Given the description of an element on the screen output the (x, y) to click on. 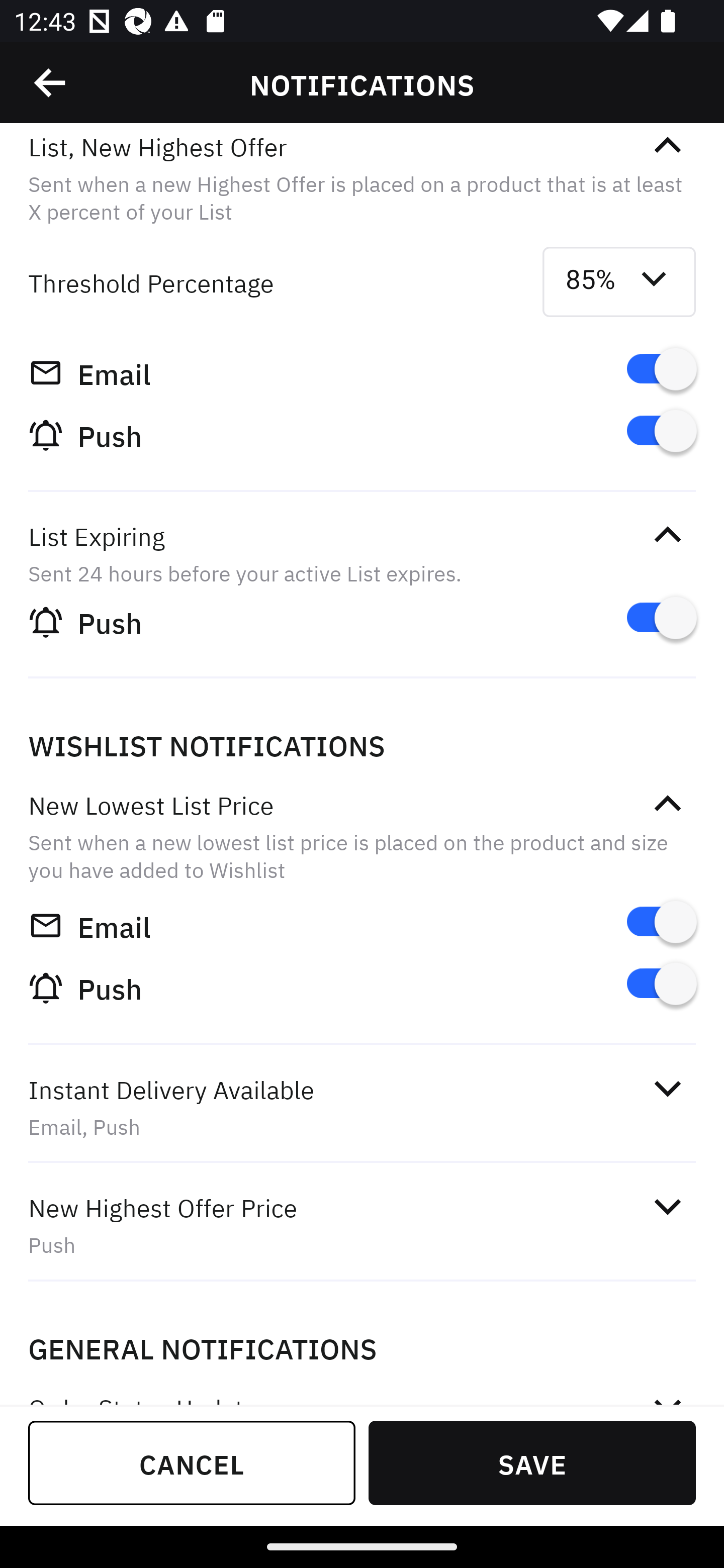
 (50, 83)
 (667, 145)
85%  (619, 282)
 (667, 535)
 (667, 803)
Instant Delivery Available  Email, Push (361, 1107)
 (667, 1088)
New Highest Offer Price  Push (361, 1225)
 (667, 1206)
CANCEL (191, 1462)
SAVE (531, 1462)
